Given the description of an element on the screen output the (x, y) to click on. 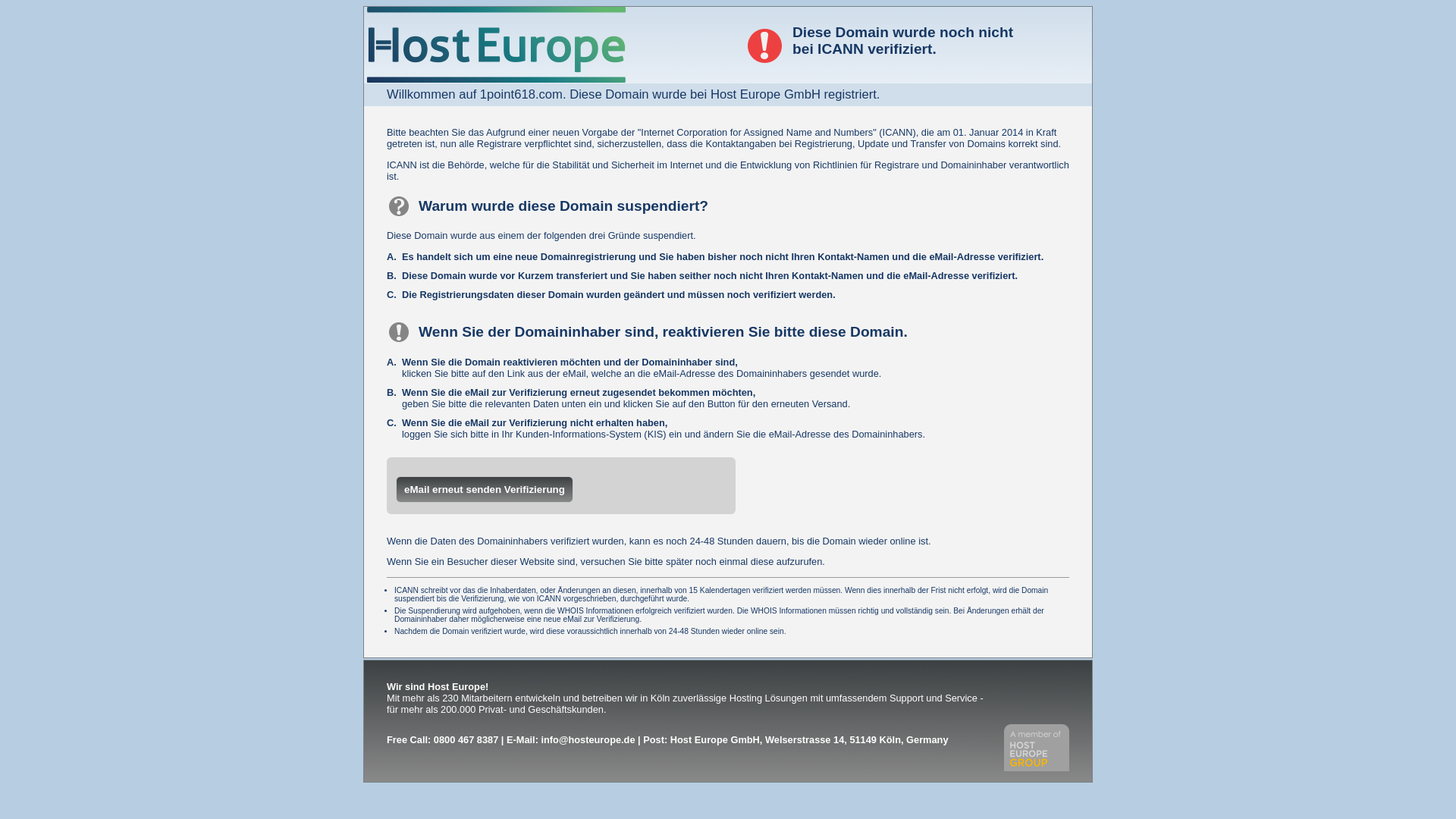
eMail erneut senden Verifizierung Element type: text (484, 489)
